Given the description of an element on the screen output the (x, y) to click on. 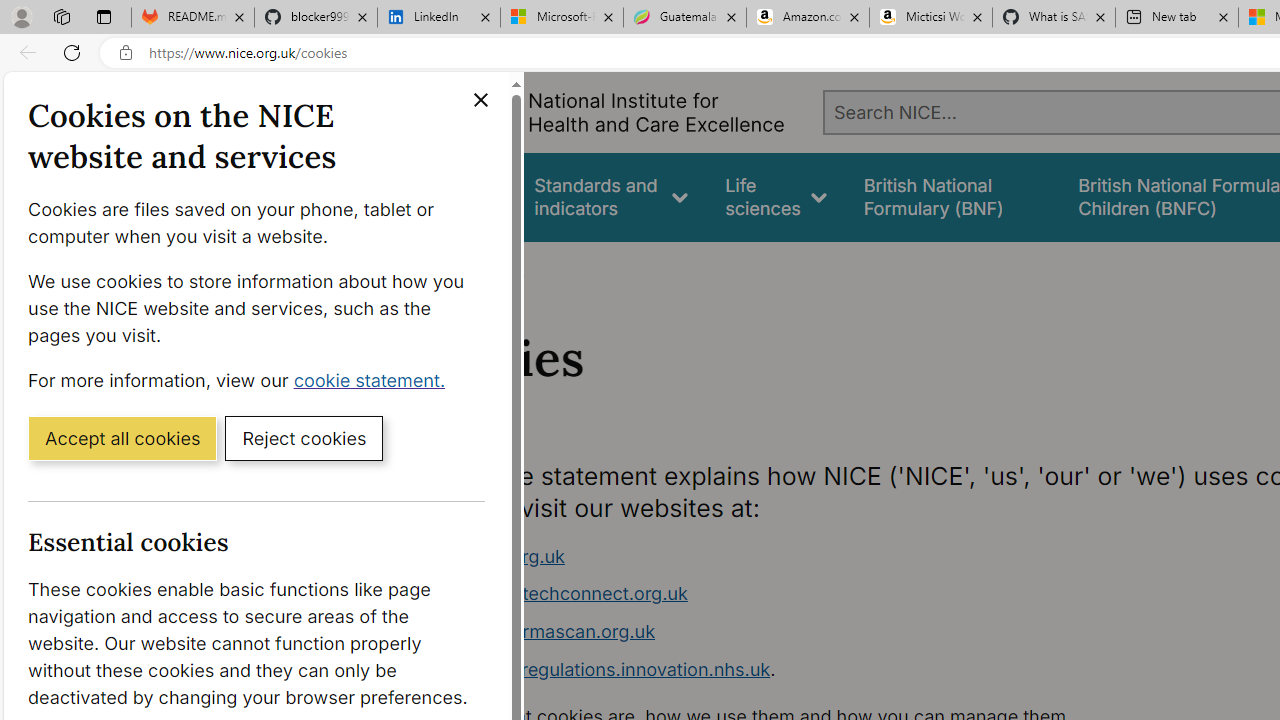
Life sciences (776, 196)
Guidance (458, 196)
Accept all cookies (122, 437)
www.digitalregulations.innovation.nhs.uk. (796, 669)
www.nice.org.uk (796, 556)
www.digitalregulations.innovation.nhs.uk (595, 668)
Home> (433, 268)
false (952, 196)
